Given the description of an element on the screen output the (x, y) to click on. 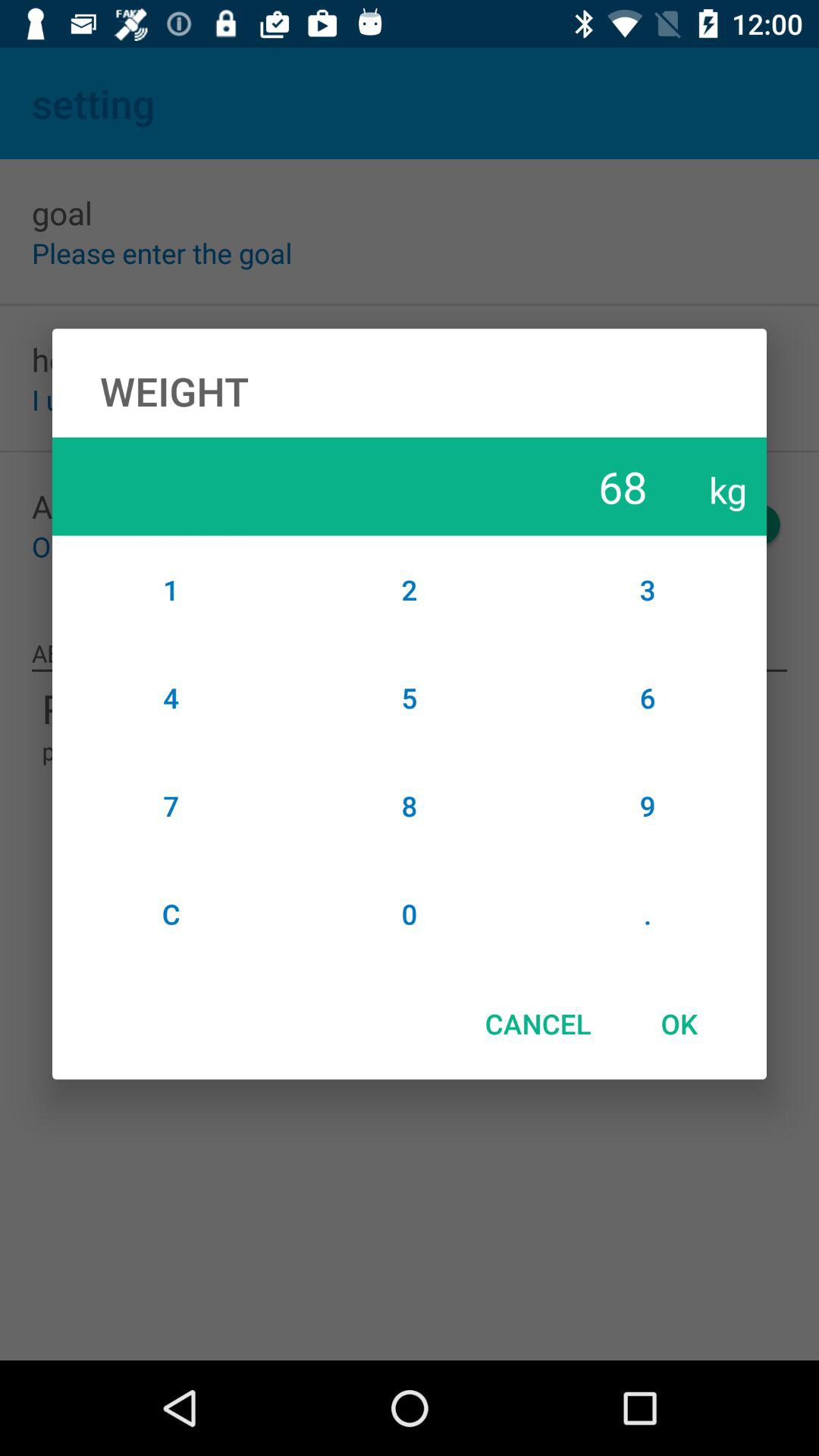
turn on item to the left of the 5 icon (171, 805)
